Given the description of an element on the screen output the (x, y) to click on. 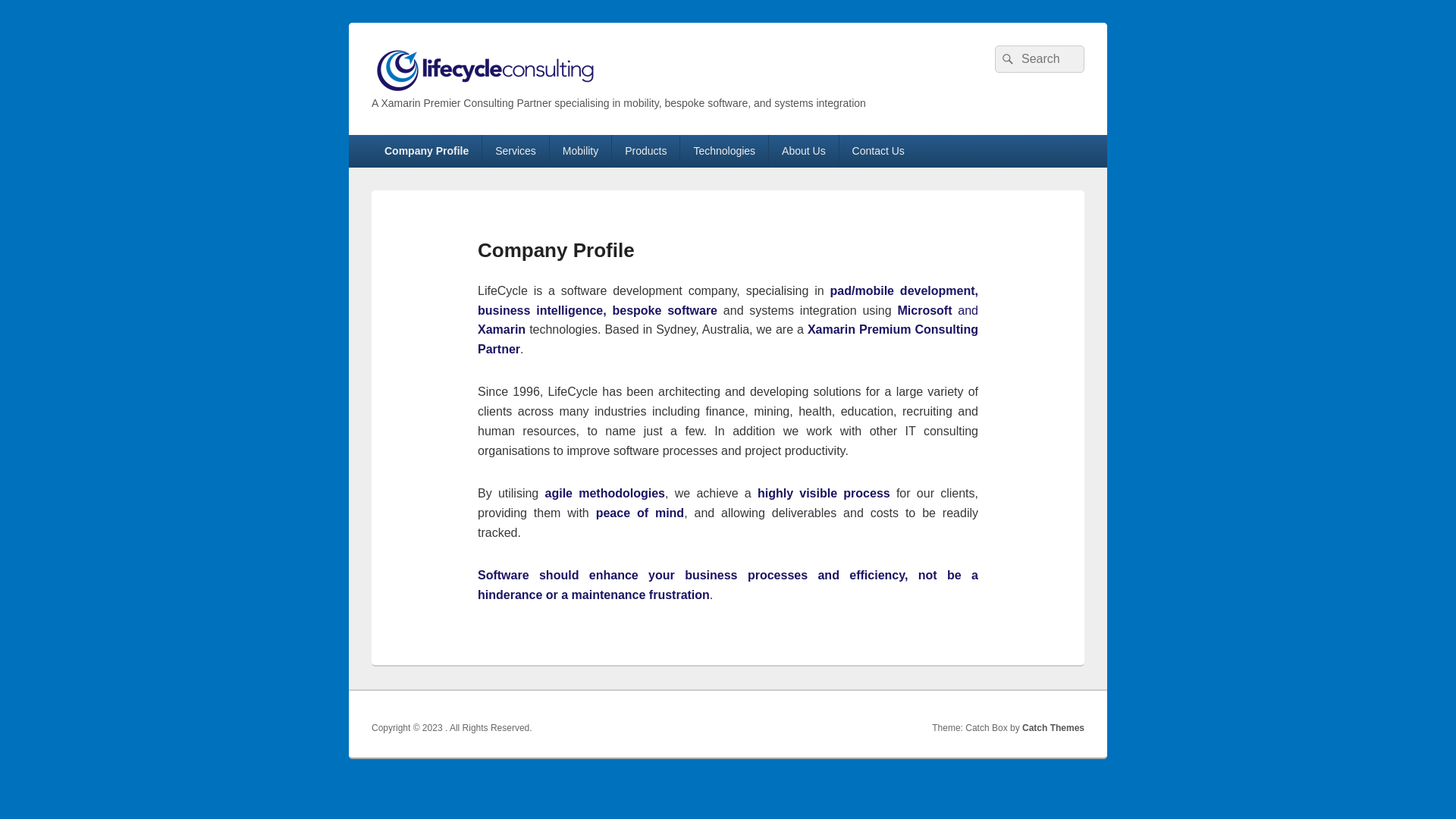
About Us Element type: text (803, 150)
Technologies Element type: text (724, 150)
Mobility Element type: text (580, 150)
Catch Themes Element type: text (1053, 727)
Company Profile Element type: text (426, 150)
Search for: Element type: hover (1039, 58)
Services Element type: text (515, 150)
Products Element type: text (645, 150)
Contact Us Element type: text (878, 150)
Search Element type: text (1005, 58)
